Given the description of an element on the screen output the (x, y) to click on. 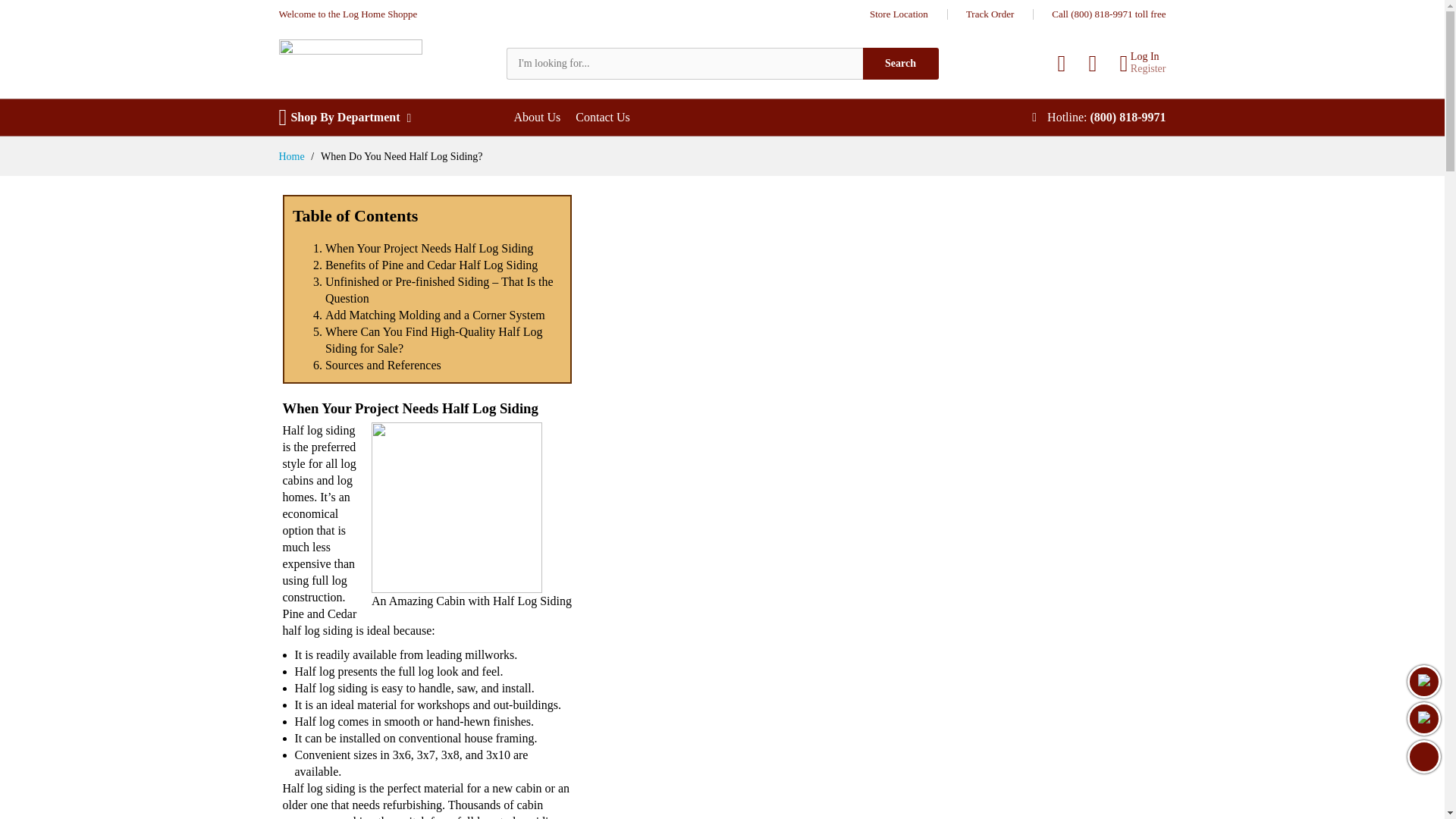
Go to Home Page (293, 156)
Store Location (898, 13)
Search (901, 63)
Track Order (989, 13)
